Given the description of an element on the screen output the (x, y) to click on. 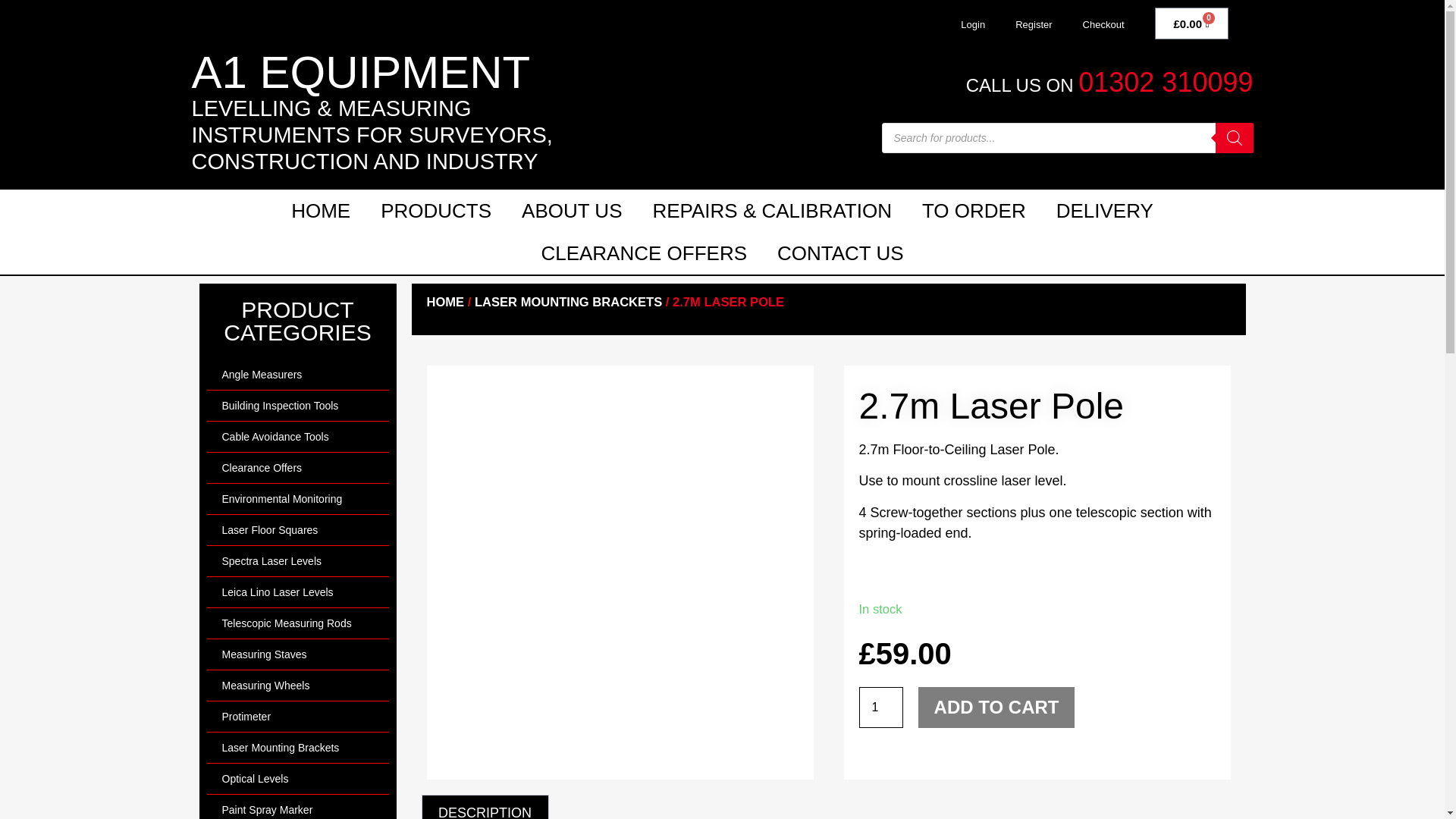
1 (880, 707)
